Given the description of an element on the screen output the (x, y) to click on. 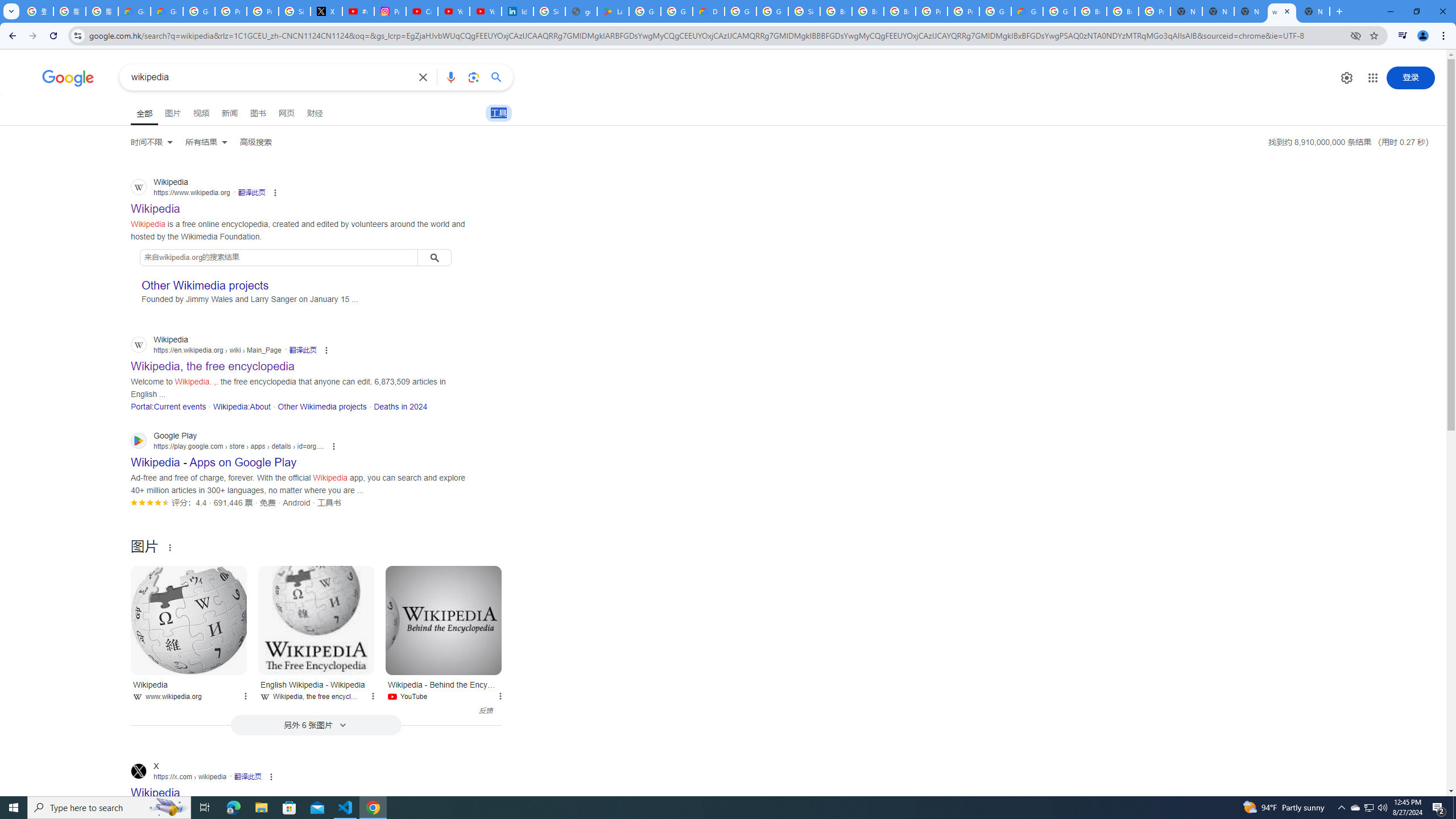
Sign in - Google Accounts (549, 11)
New Tab (1313, 11)
#nbabasketballhighlights - YouTube (358, 11)
Last Shelter: Survival - Apps on Google Play (613, 11)
Google Workspace - Specific Terms (676, 11)
Wikipedia (189, 619)
